Given the description of an element on the screen output the (x, y) to click on. 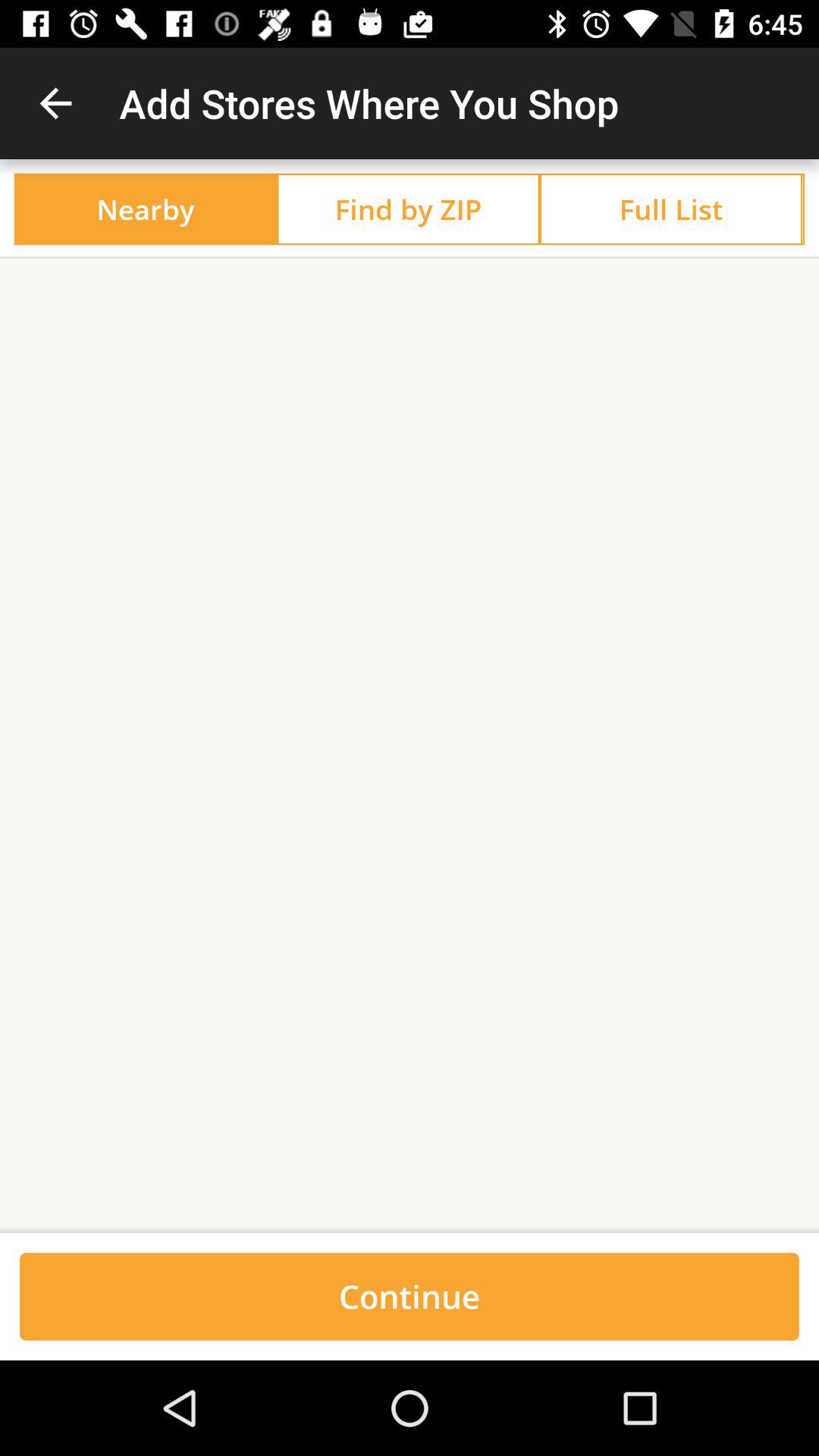
tap the app to the left of add stores where (55, 103)
